Given the description of an element on the screen output the (x, y) to click on. 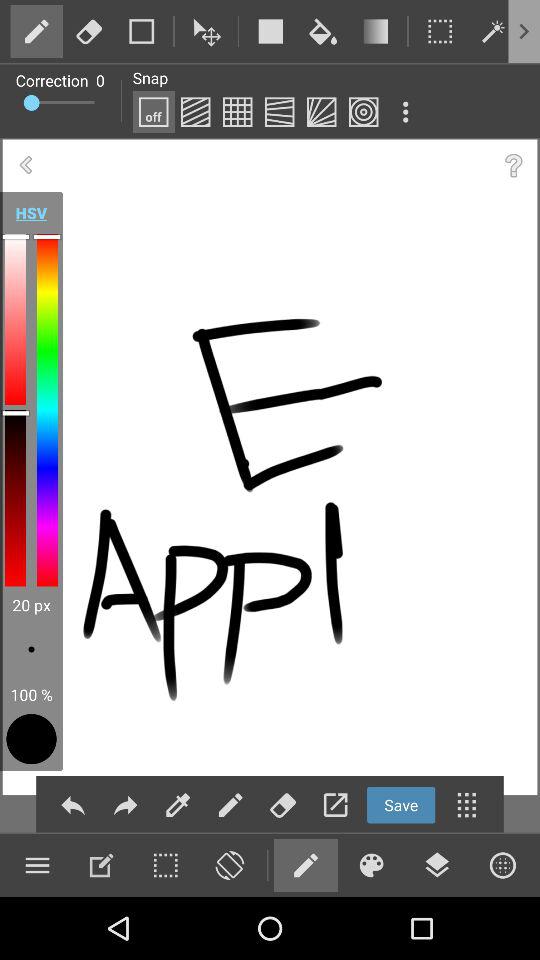
fill colors (177, 804)
